Given the description of an element on the screen output the (x, y) to click on. 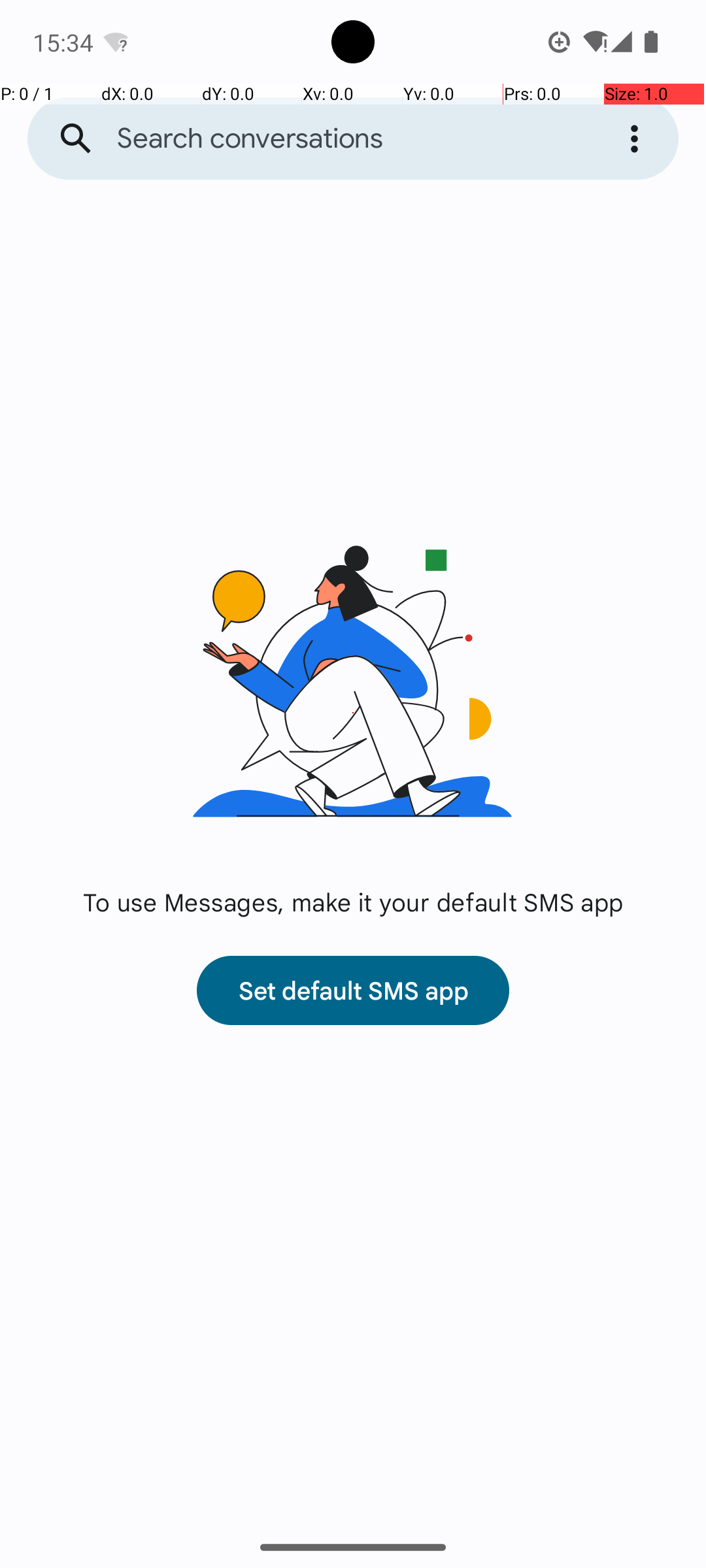
To use Messages, make it your default SMS app Element type: android.widget.TextView (353, 901)
Set default SMS app Element type: android.widget.Button (352, 990)
